Given the description of an element on the screen output the (x, y) to click on. 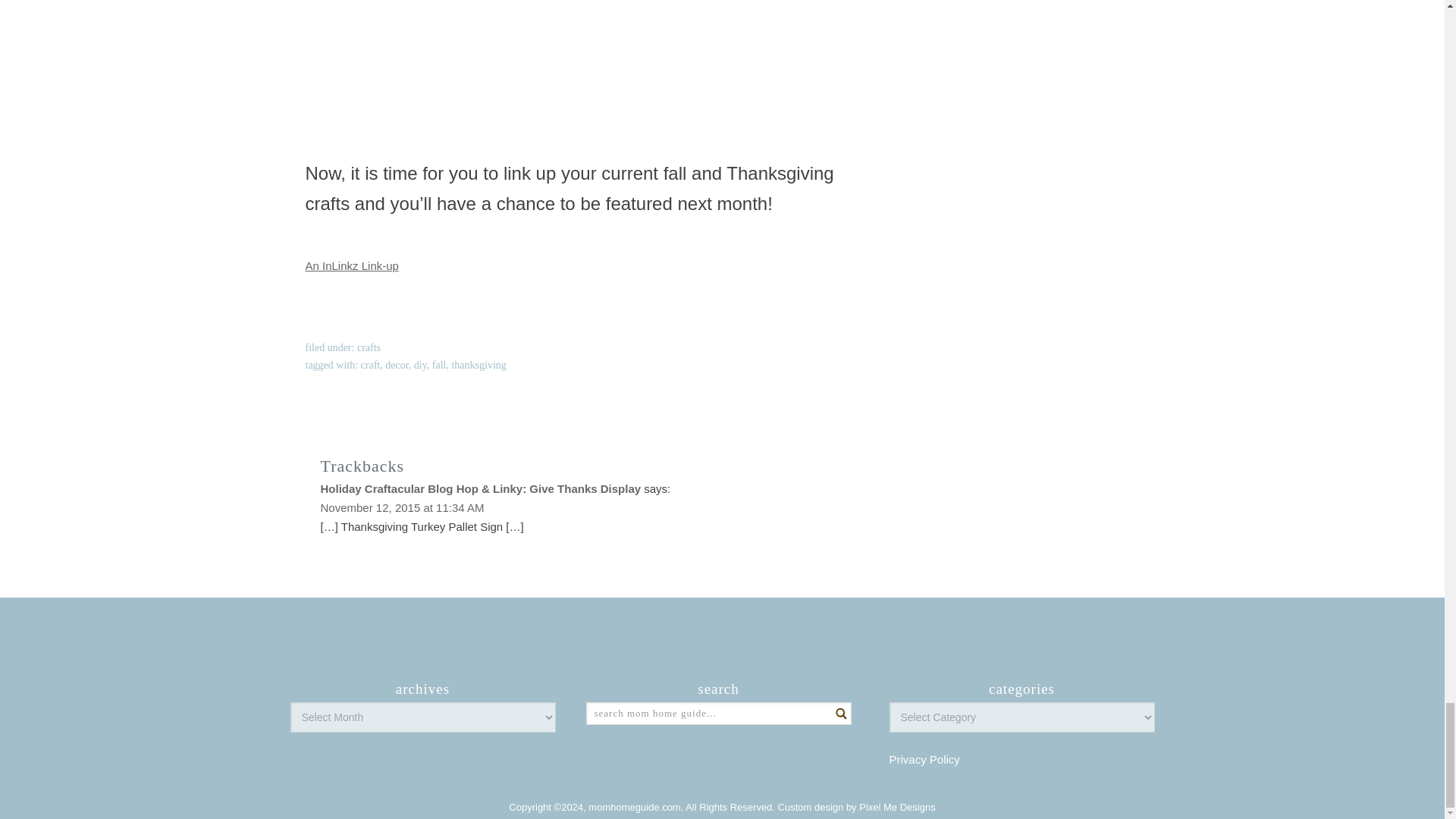
click to view in an external page. (350, 265)
